Given the description of an element on the screen output the (x, y) to click on. 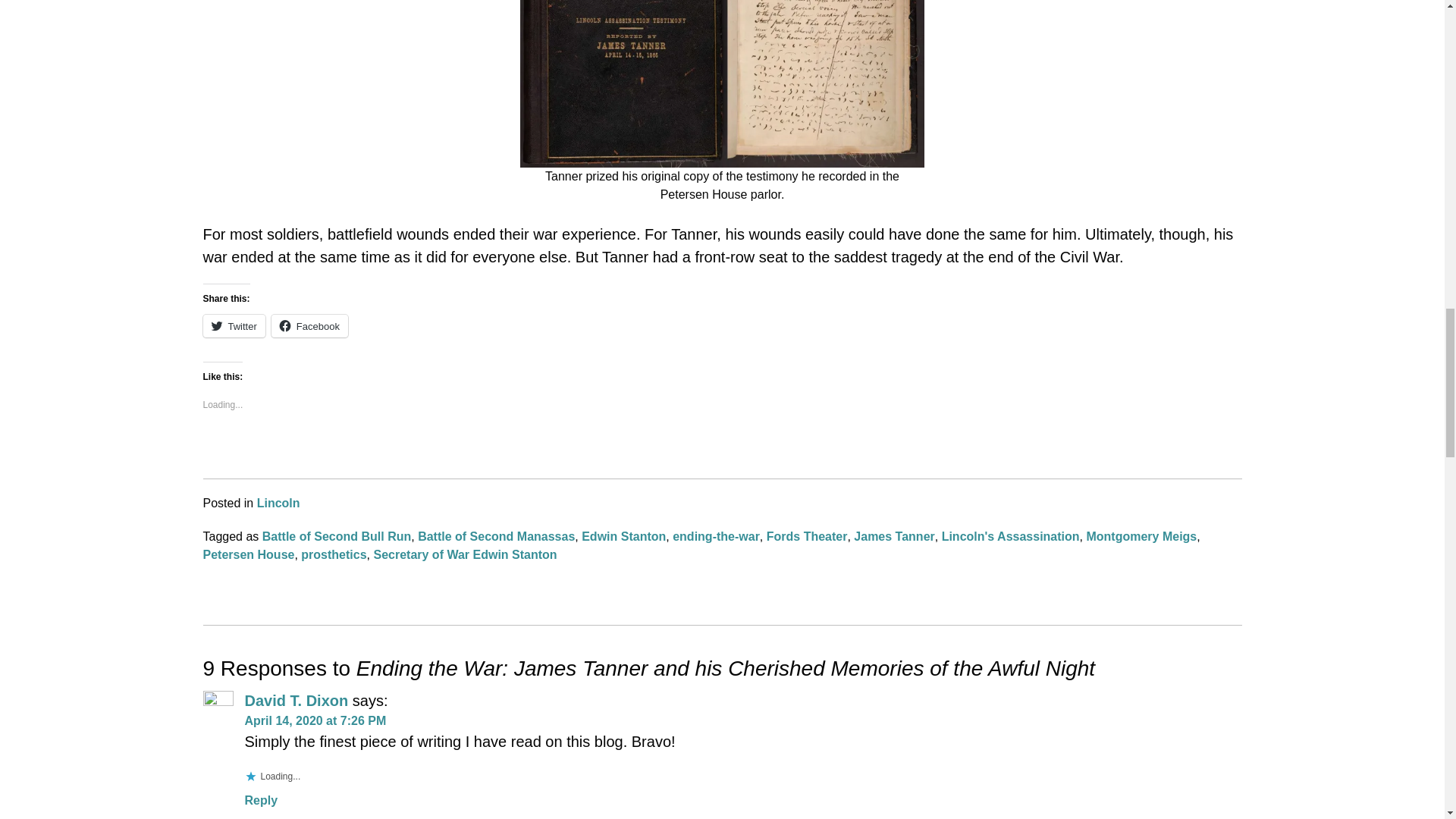
Lincoln (278, 502)
Facebook (308, 325)
Click to share on Facebook (308, 325)
Click to share on Twitter (233, 325)
Twitter (233, 325)
Battle of Second Bull Run (336, 535)
